Given the description of an element on the screen output the (x, y) to click on. 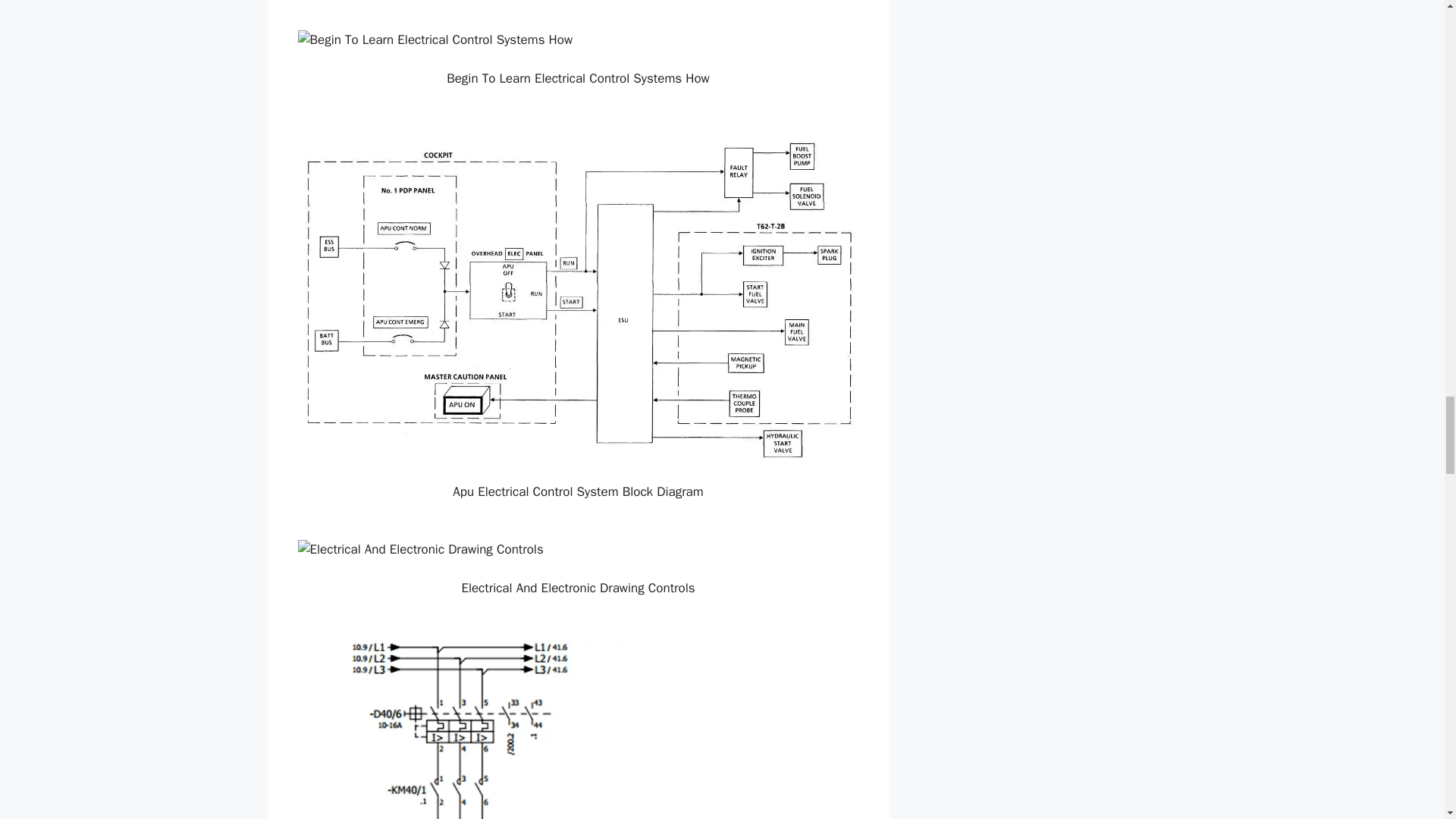
Electrical And Electronic Drawing Controls (578, 549)
Begin To Learn Electrical Control Systems How (578, 39)
How To Read An Electrical Wiring Diagram Inst Tools (578, 728)
